Given the description of an element on the screen output the (x, y) to click on. 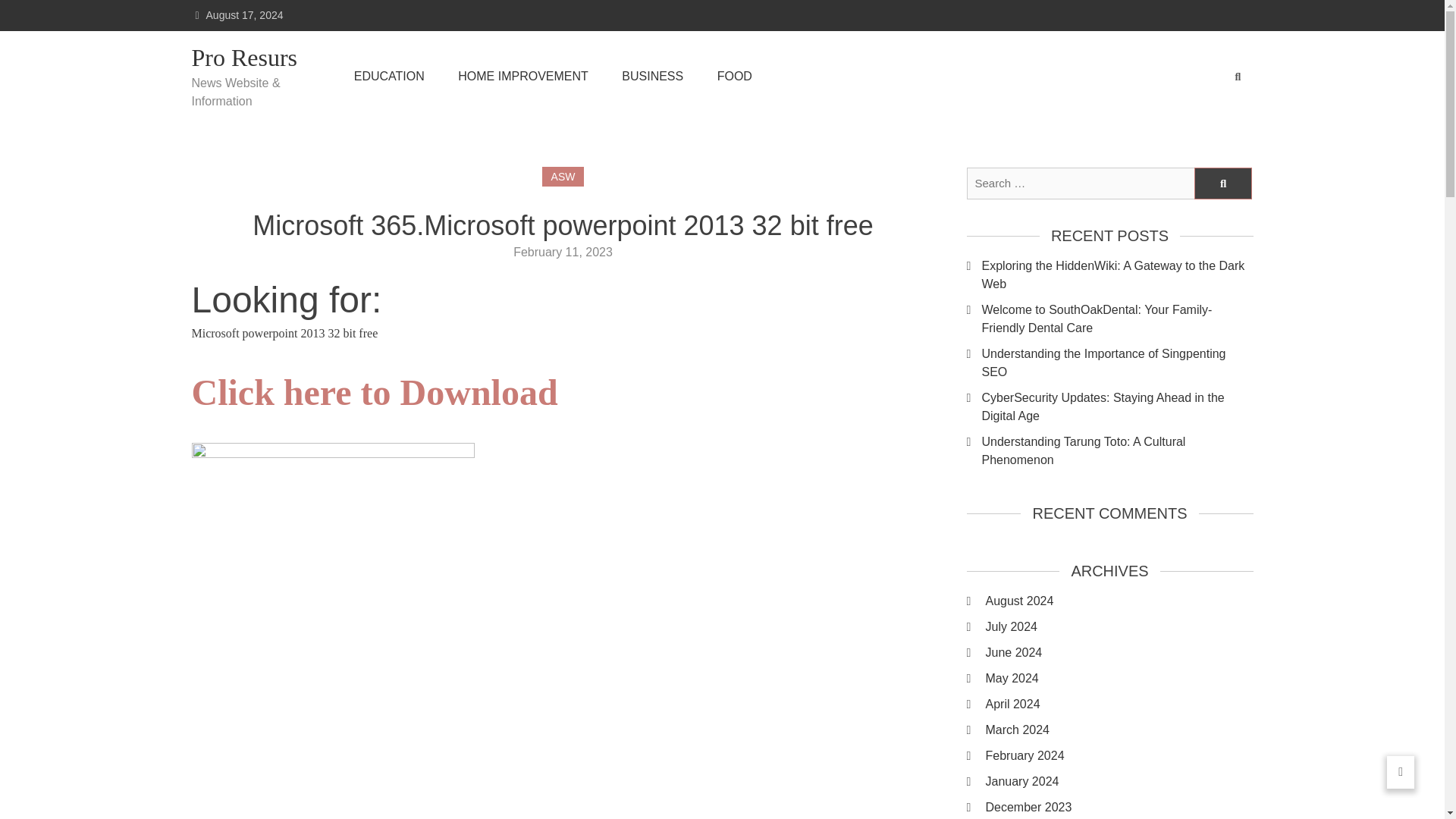
FOOD (734, 76)
HOME IMPROVEMENT (523, 76)
March 2024 (1119, 730)
Welcome to SouthOakDental: Your Family-Friendly Dental Care (1116, 319)
Understanding the Importance of Singpenting SEO (1116, 362)
May 2024 (1119, 678)
ASW (563, 176)
Exploring the HiddenWiki: A Gateway to the Dark Web (1116, 275)
April 2024 (1119, 704)
Understanding Tarung Toto: A Cultural Phenomenon (1116, 451)
